Given the description of an element on the screen output the (x, y) to click on. 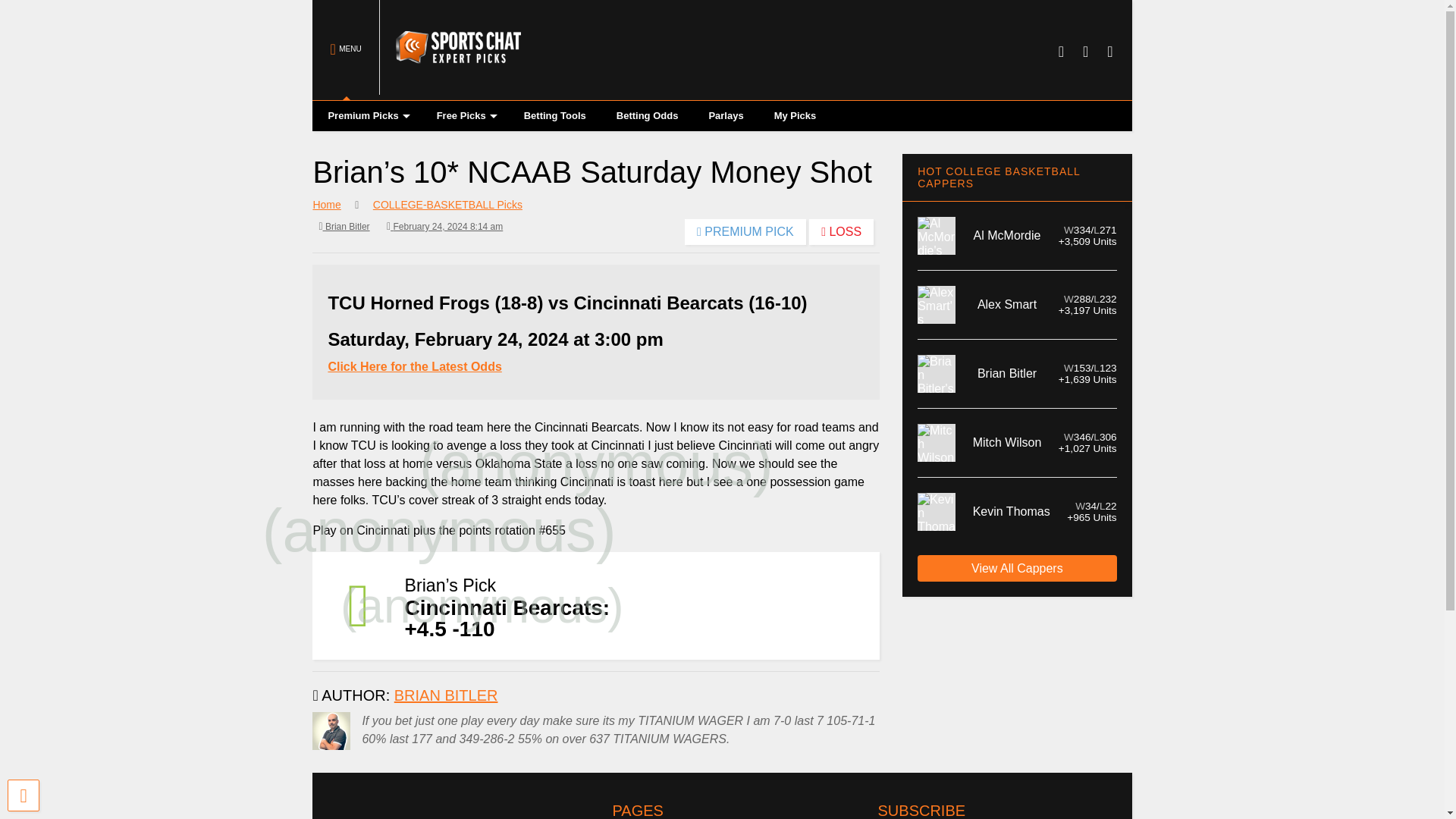
Parlays (725, 115)
Betting Tools (554, 115)
Sports Chat Place Premium Picks (449, 87)
MENU (345, 49)
author profile (445, 695)
Brian Bitler (343, 226)
My Picks (794, 115)
2024-02-24T08:14:31-0500 (444, 226)
Betting Odds (647, 115)
Premium Picks (366, 115)
